Given the description of an element on the screen output the (x, y) to click on. 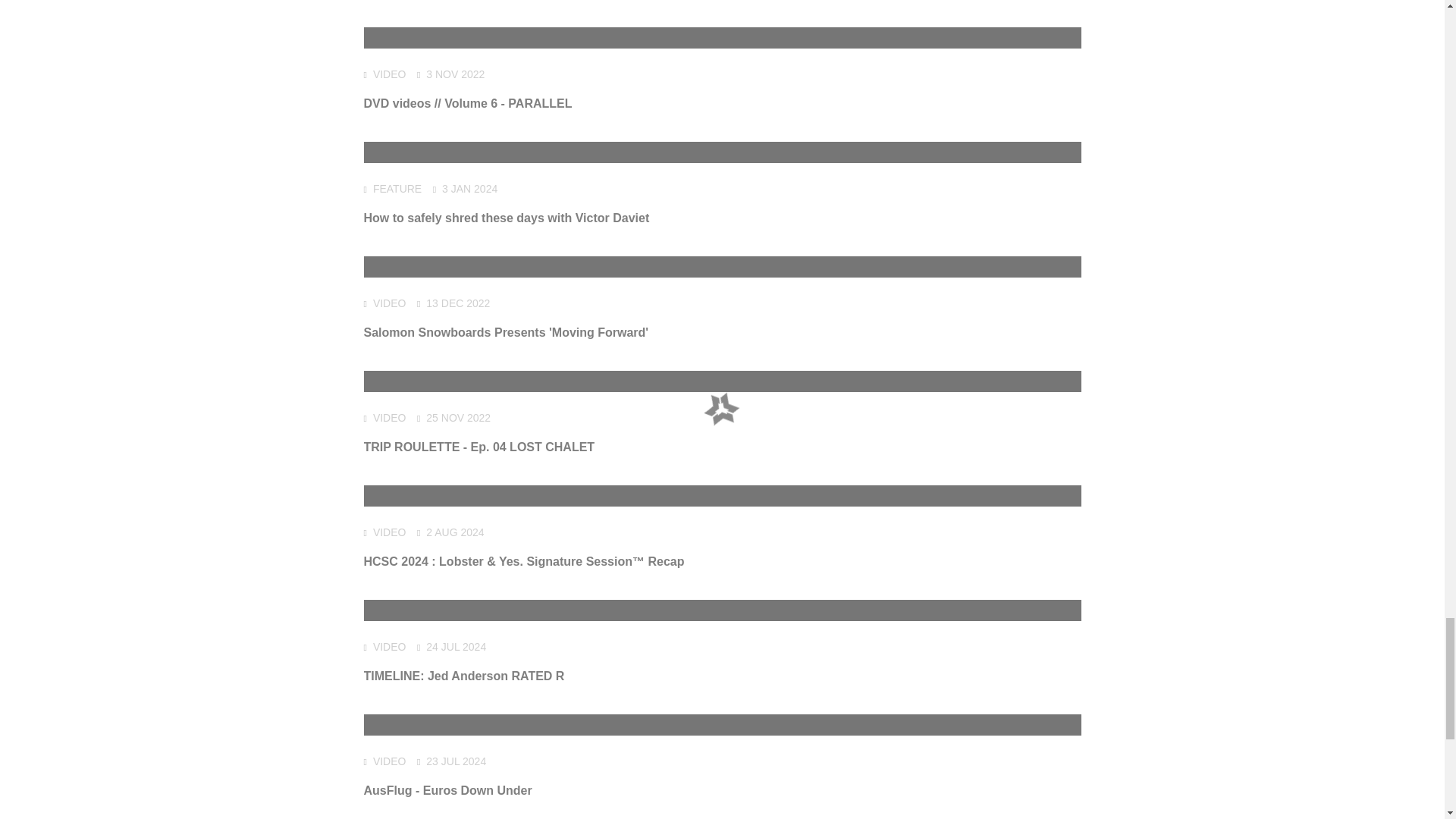
AusFlug - Euros Down Under (448, 789)
Salomon Snowboards Presents 'Moving Forward' (506, 332)
How to safely shred these days with Victor Daviet (506, 217)
Salomon Snowboards Presents 'Moving Forward' (506, 332)
AusFlug - Euros Down Under (448, 789)
TIMELINE: Jed Anderson RATED R (464, 675)
TIMELINE: Jed Anderson RATED R (464, 675)
TRIP ROULETTE - Ep. 04 LOST CHALET  (479, 446)
TRIP ROULETTE - Ep. 04 LOST CHALET (479, 446)
How to safely shred these days with Victor Daviet (506, 217)
